Given the description of an element on the screen output the (x, y) to click on. 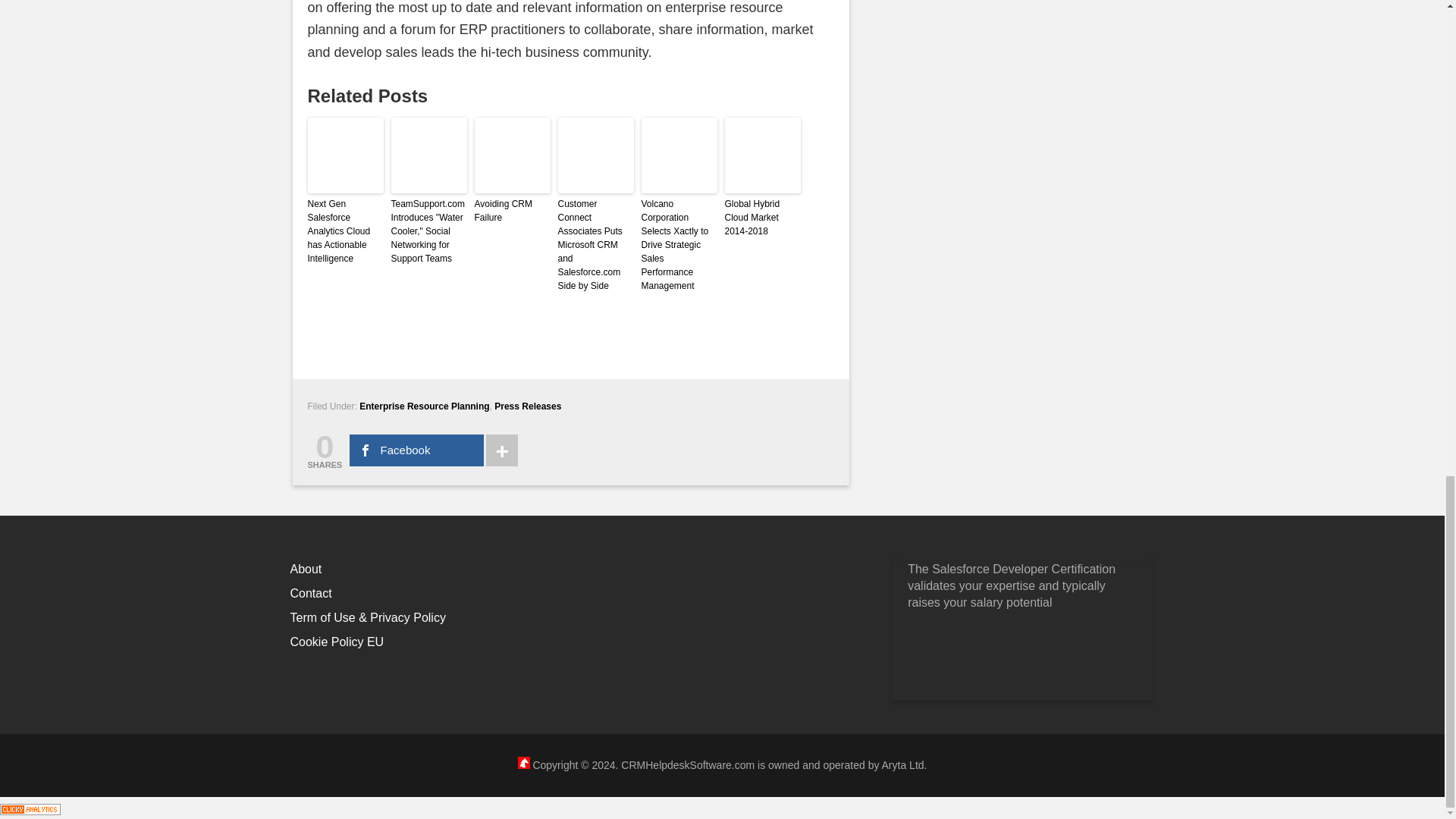
Avoiding CRM Failure (512, 210)
Real Time Web Analytics (30, 807)
